Given the description of an element on the screen output the (x, y) to click on. 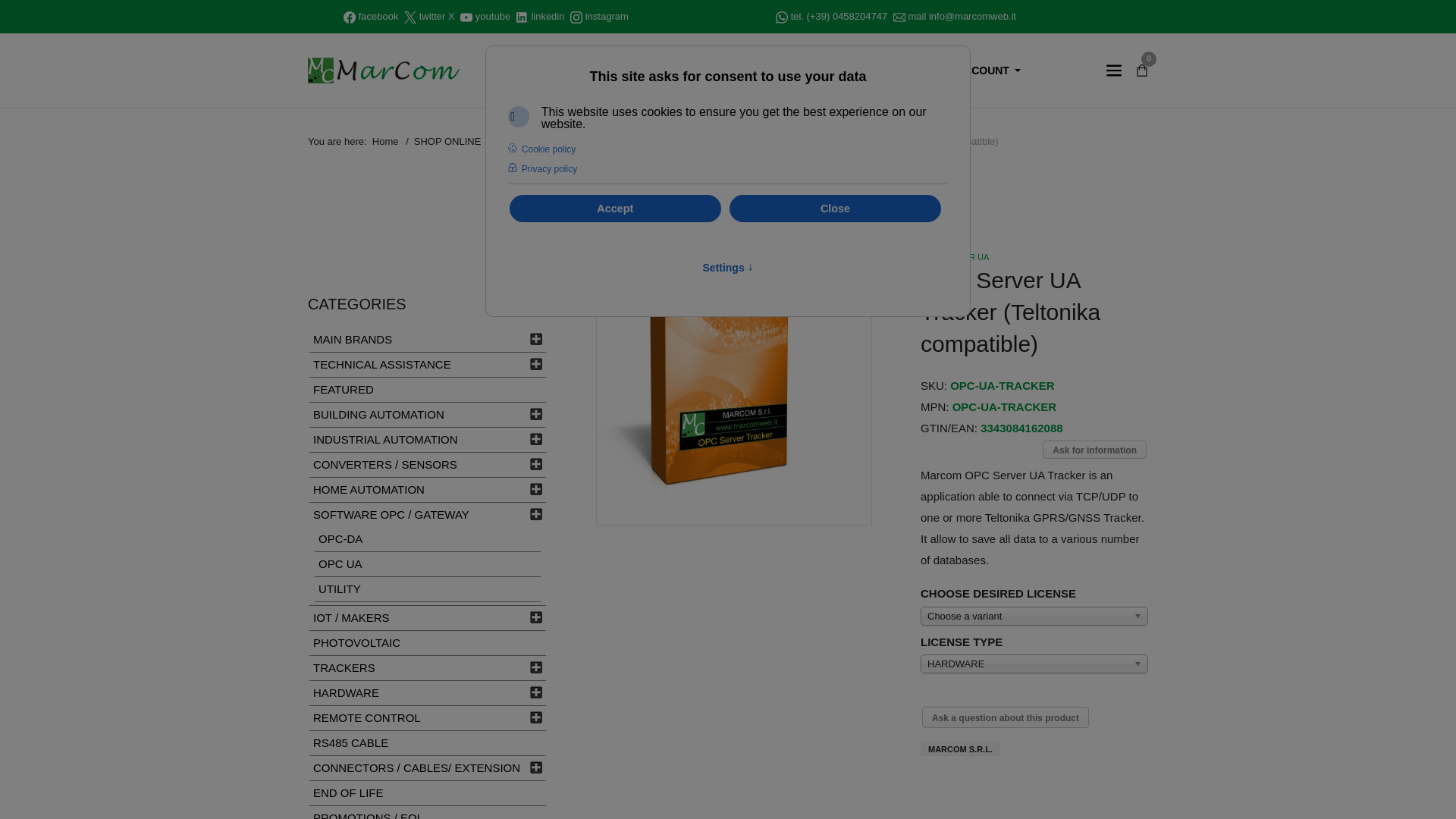
Cookie policy (543, 149)
youtube (493, 16)
twitter X (436, 16)
linkedin (547, 16)
OPC SERVER UA (954, 256)
Accept (615, 208)
ScatolaOpcServerTracker (733, 385)
instagram (606, 16)
linkedin (547, 16)
Privacy policy (543, 169)
SOLUTIONS (710, 70)
Shop Online - Marcom S.r.l. (383, 70)
youtube (493, 16)
facebook (378, 16)
facebook (378, 16)
